Given the description of an element on the screen output the (x, y) to click on. 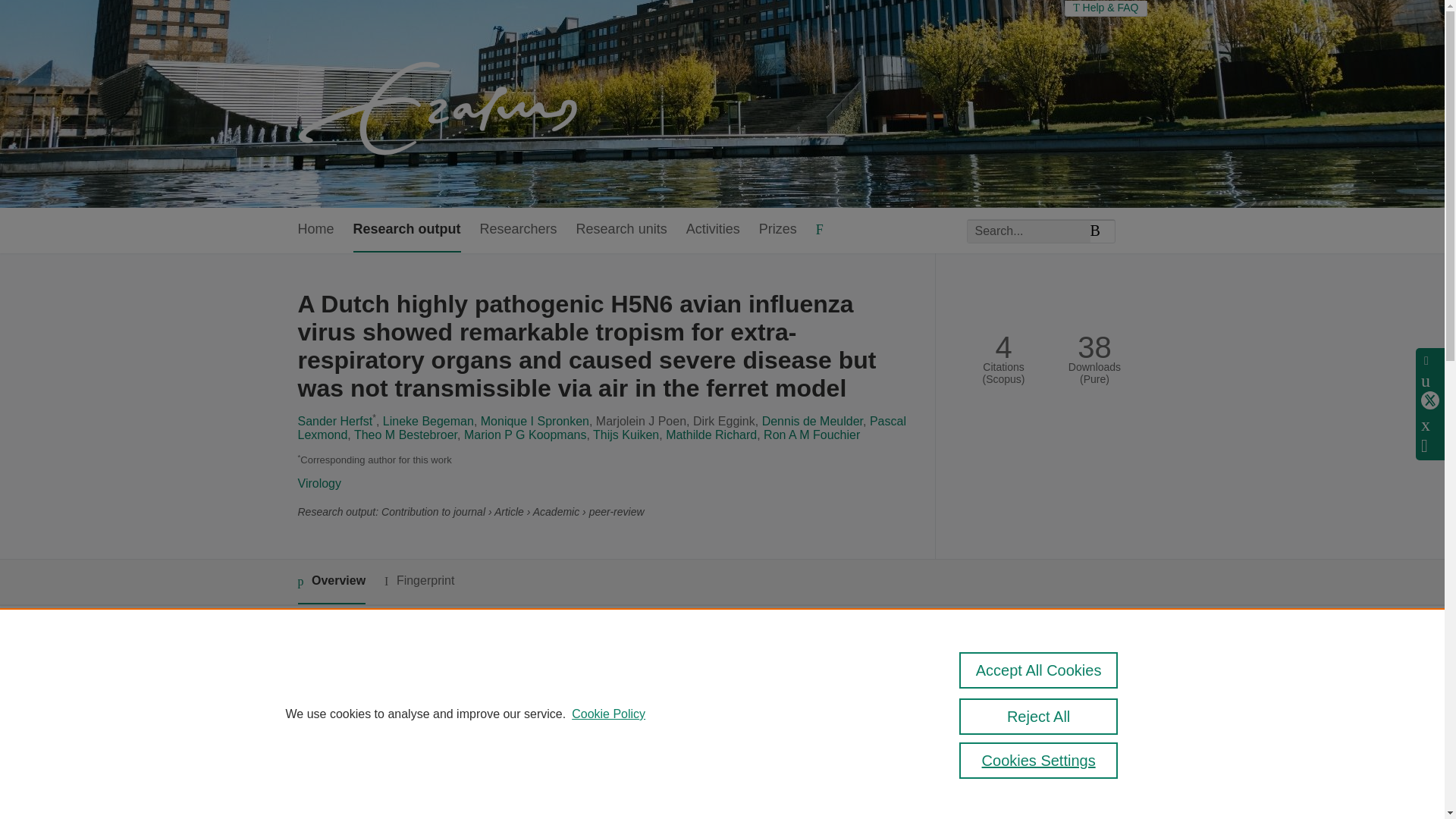
Researchers (518, 230)
Sander Herfst (334, 420)
Marion P G Koopmans (525, 434)
Overview (331, 581)
Erasmus University Rotterdam Home (441, 103)
Mathilde Richard (711, 434)
Dennis de Meulder (812, 420)
Theo M Bestebroer (405, 434)
Ron A M Fouchier (811, 434)
